Given the description of an element on the screen output the (x, y) to click on. 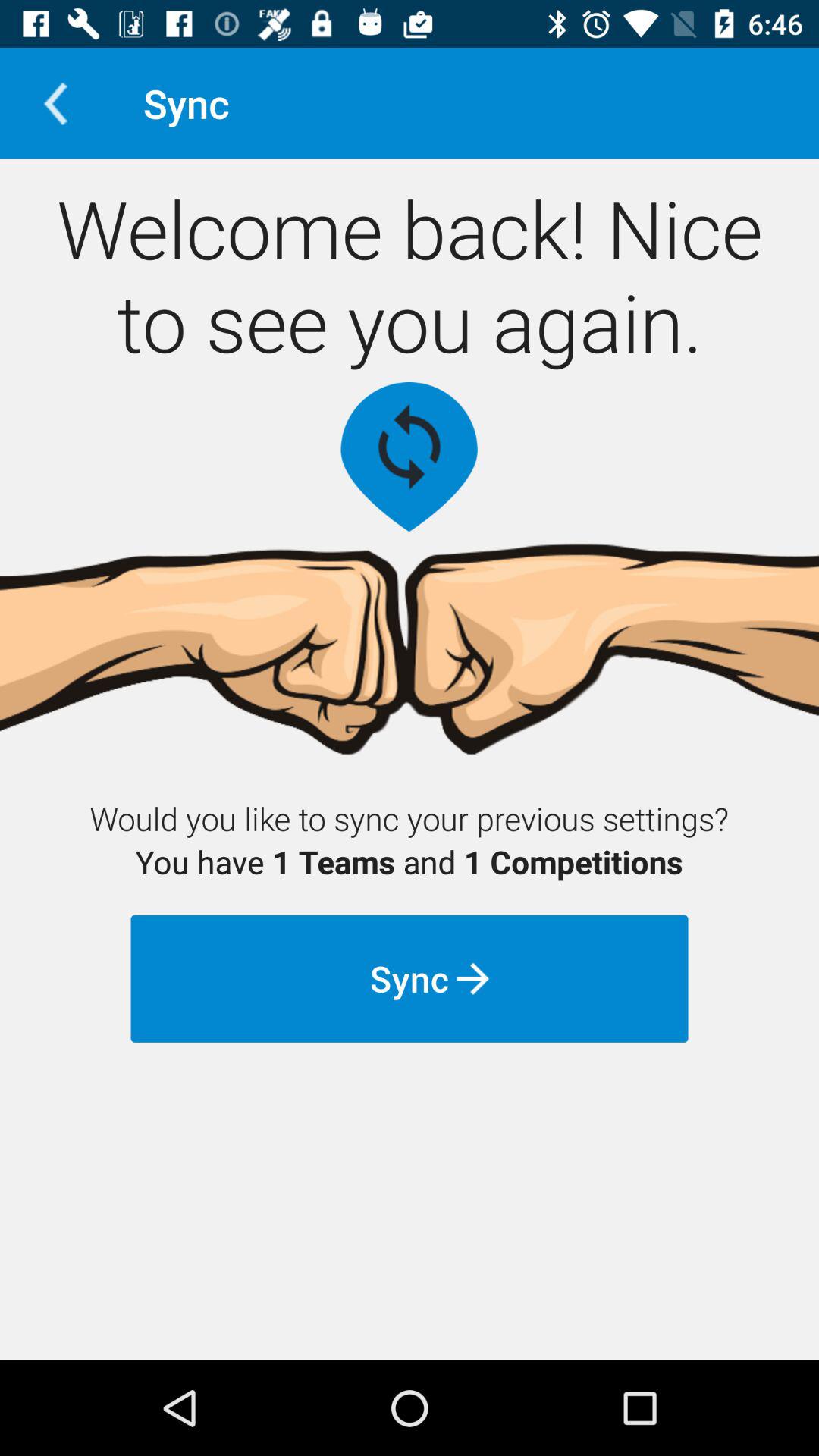
click the item next to sync icon (55, 103)
